Given the description of an element on the screen output the (x, y) to click on. 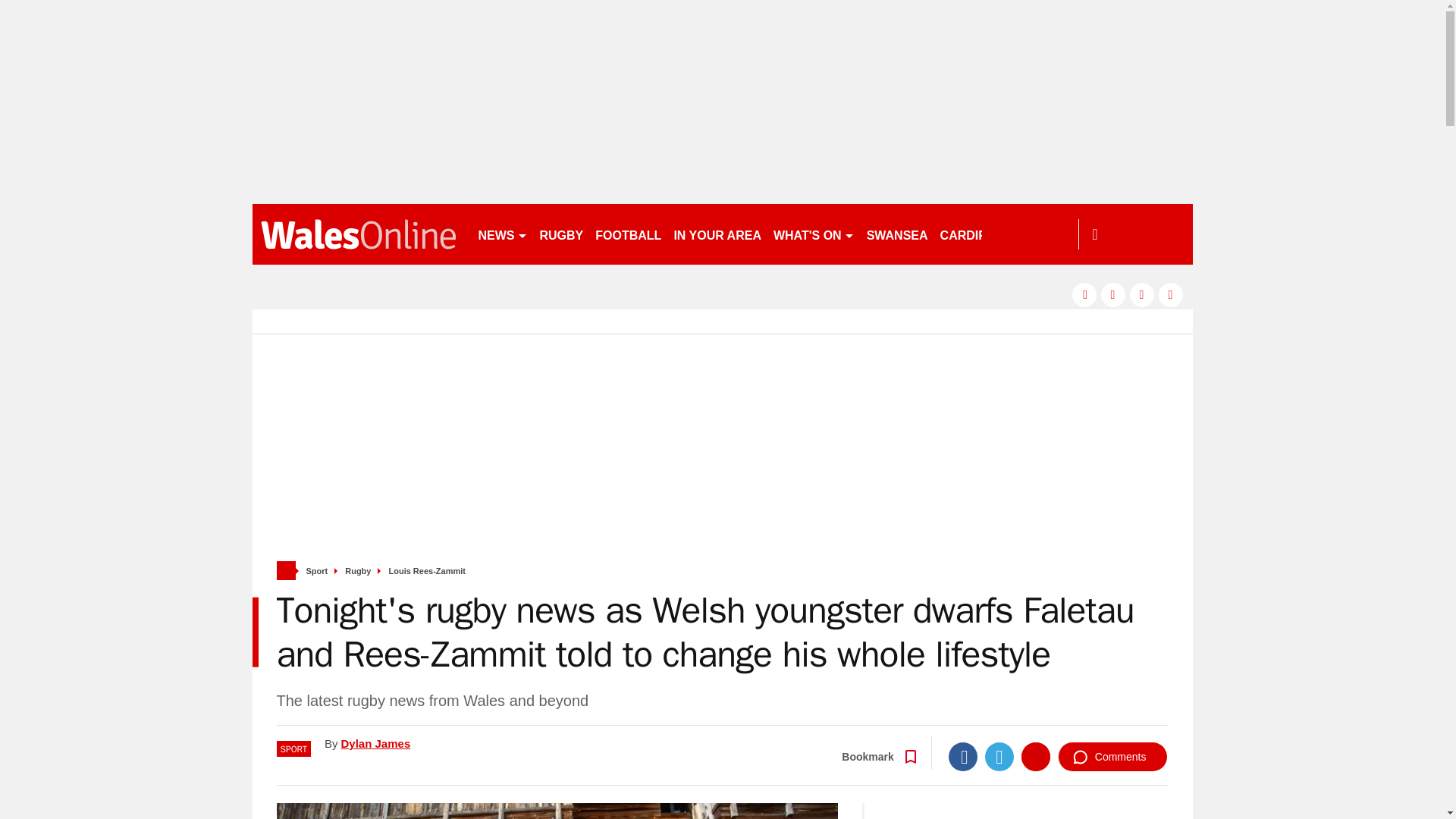
Comments (1112, 756)
instagram (1170, 294)
facebook (1083, 294)
Twitter (999, 756)
IN YOUR AREA (716, 233)
NEWS (501, 233)
SWANSEA (897, 233)
RUGBY (561, 233)
FOOTBALL (627, 233)
Facebook (962, 756)
